Given the description of an element on the screen output the (x, y) to click on. 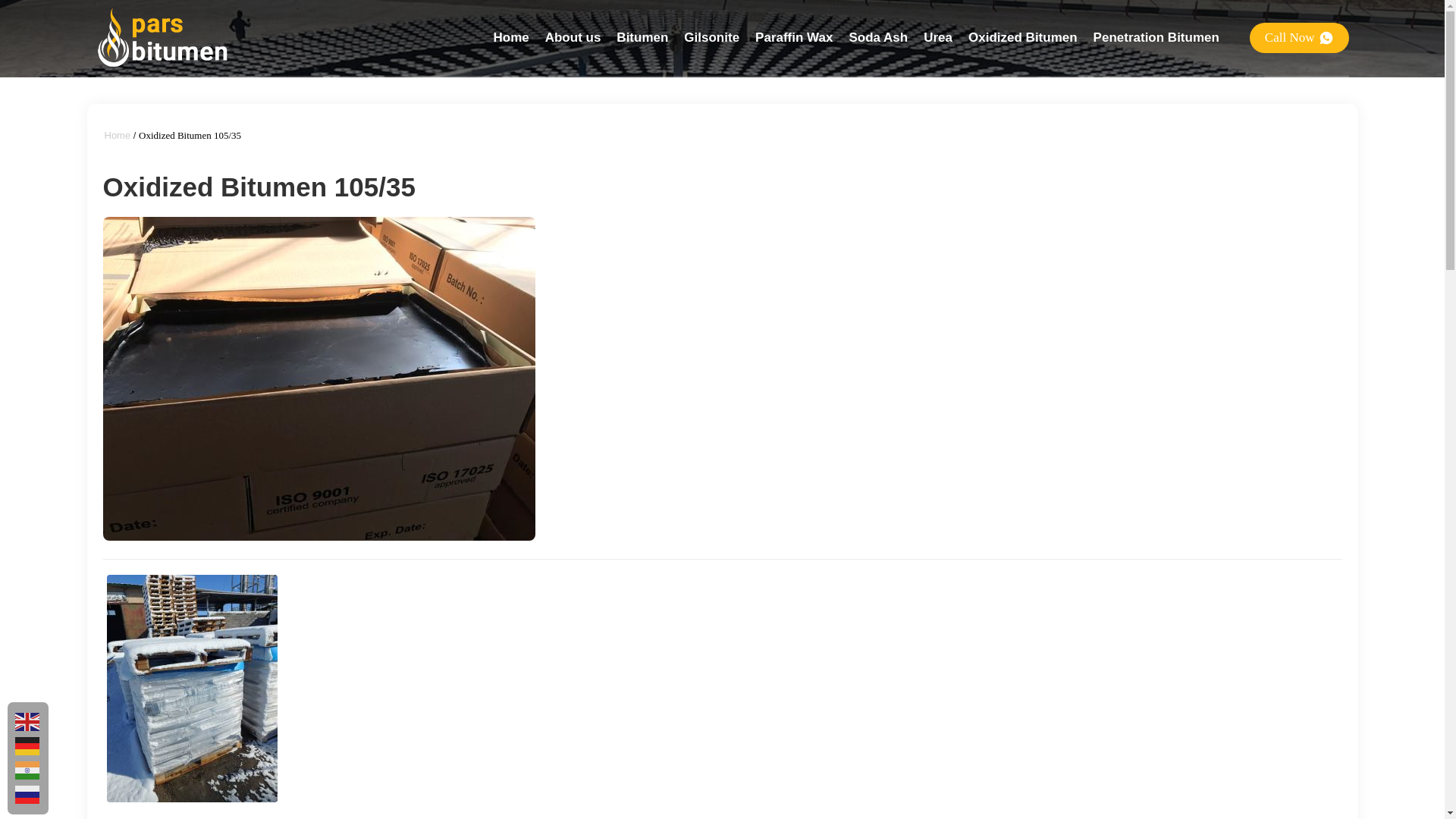
Penetration Bitumen (1156, 37)
Oxidized Bitumen (1022, 37)
Hindi (27, 770)
Urea (937, 37)
Gilsonite (711, 37)
English (27, 721)
Paraffin Wax (793, 37)
Bitumen (641, 37)
Soda Ash (877, 37)
Russian (27, 794)
